Given the description of an element on the screen output the (x, y) to click on. 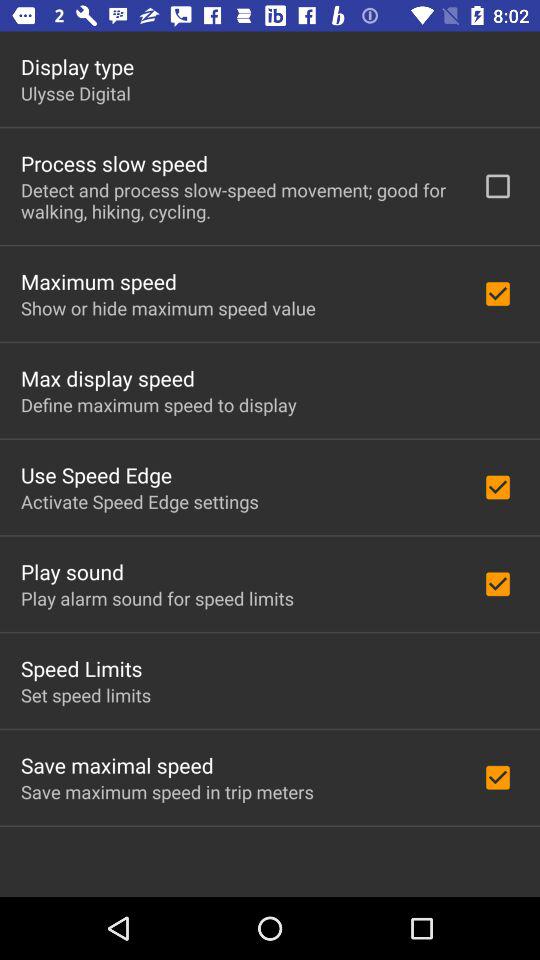
scroll to the display type icon (77, 66)
